Given the description of an element on the screen output the (x, y) to click on. 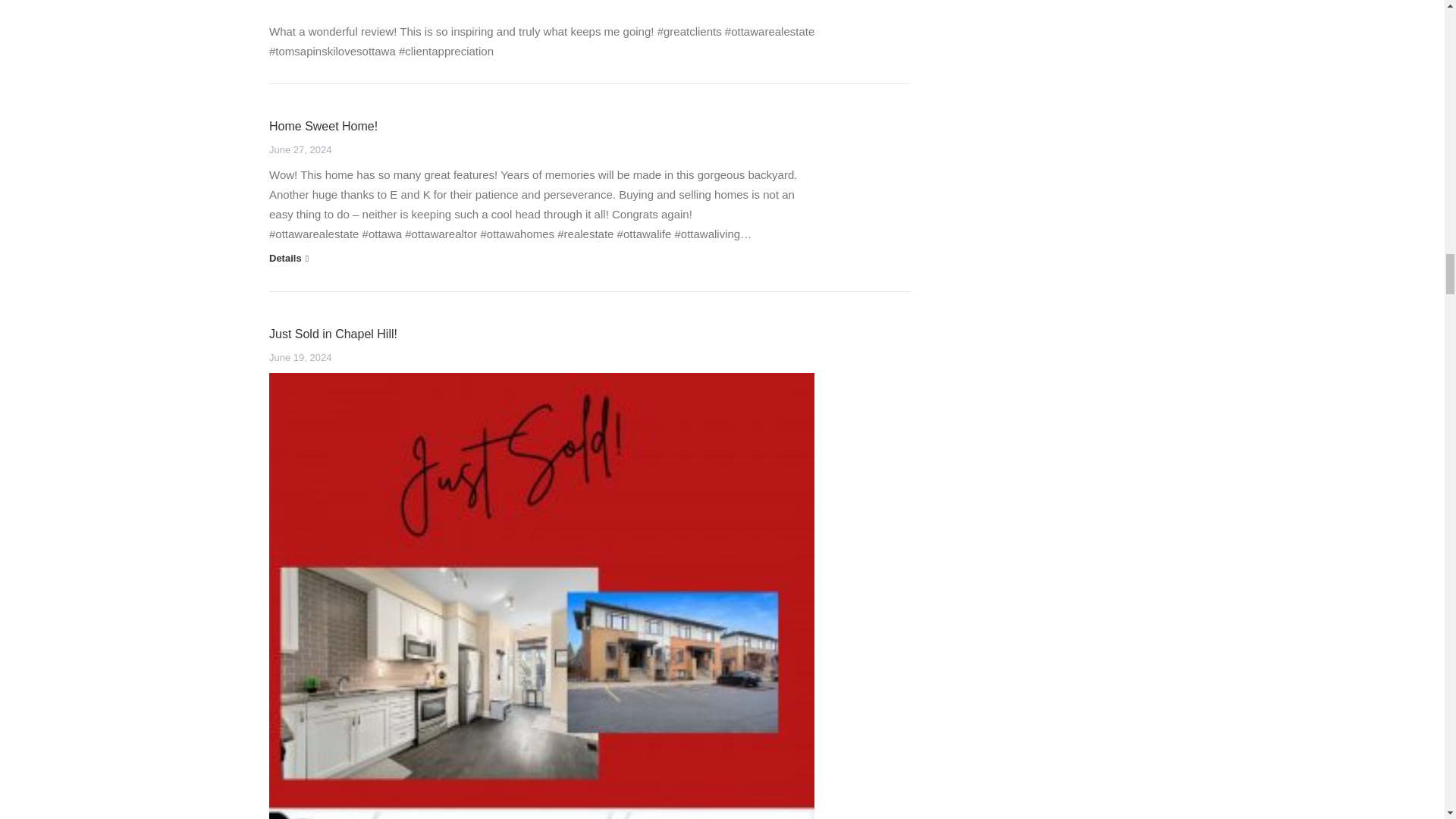
Home Sweet Home! (323, 126)
Just Sold in Chapel Hill! (333, 334)
2:02 pm (300, 150)
